Given the description of an element on the screen output the (x, y) to click on. 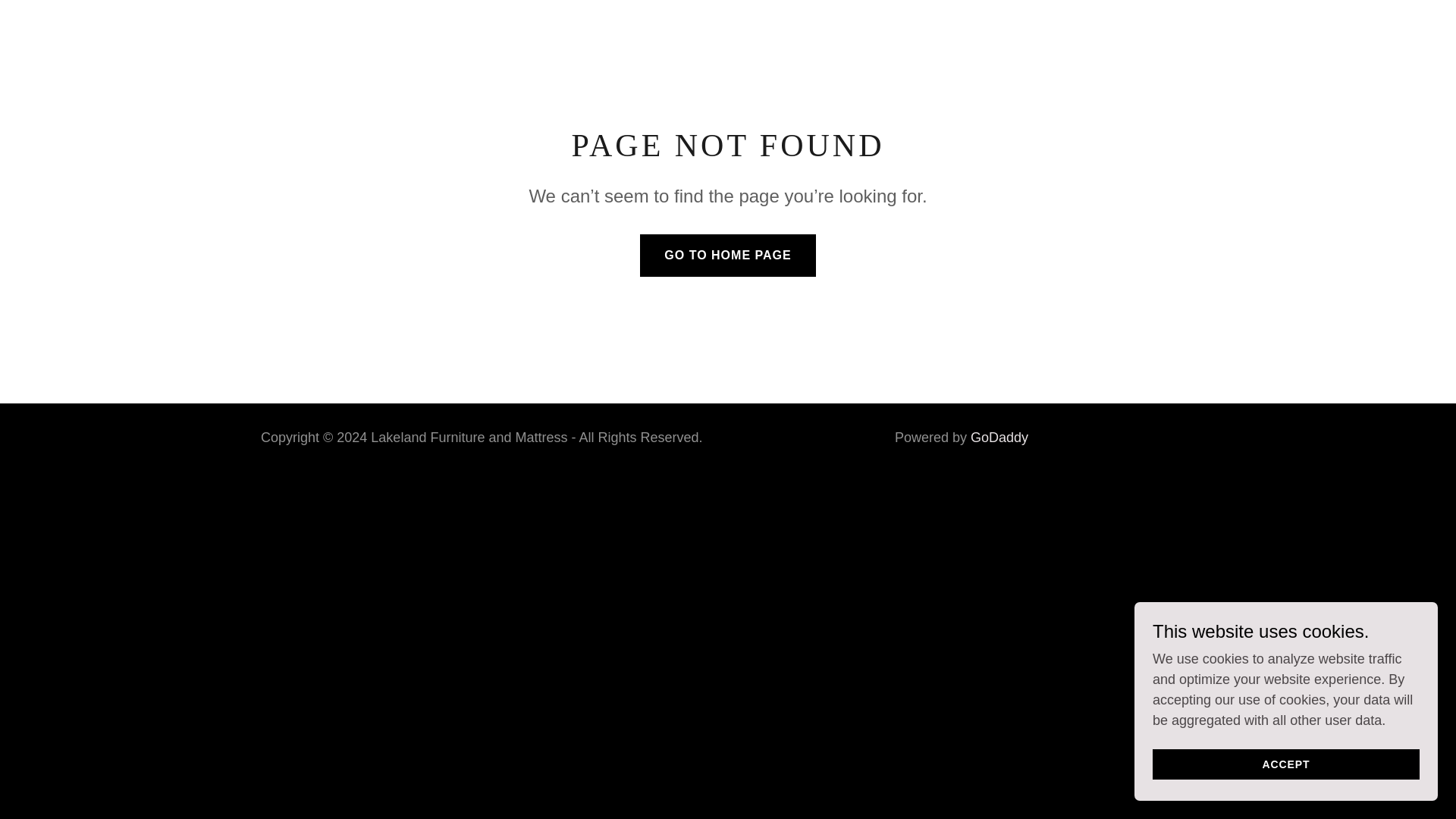
GoDaddy (999, 437)
GO TO HOME PAGE (727, 255)
ACCEPT (1286, 764)
